Given the description of an element on the screen output the (x, y) to click on. 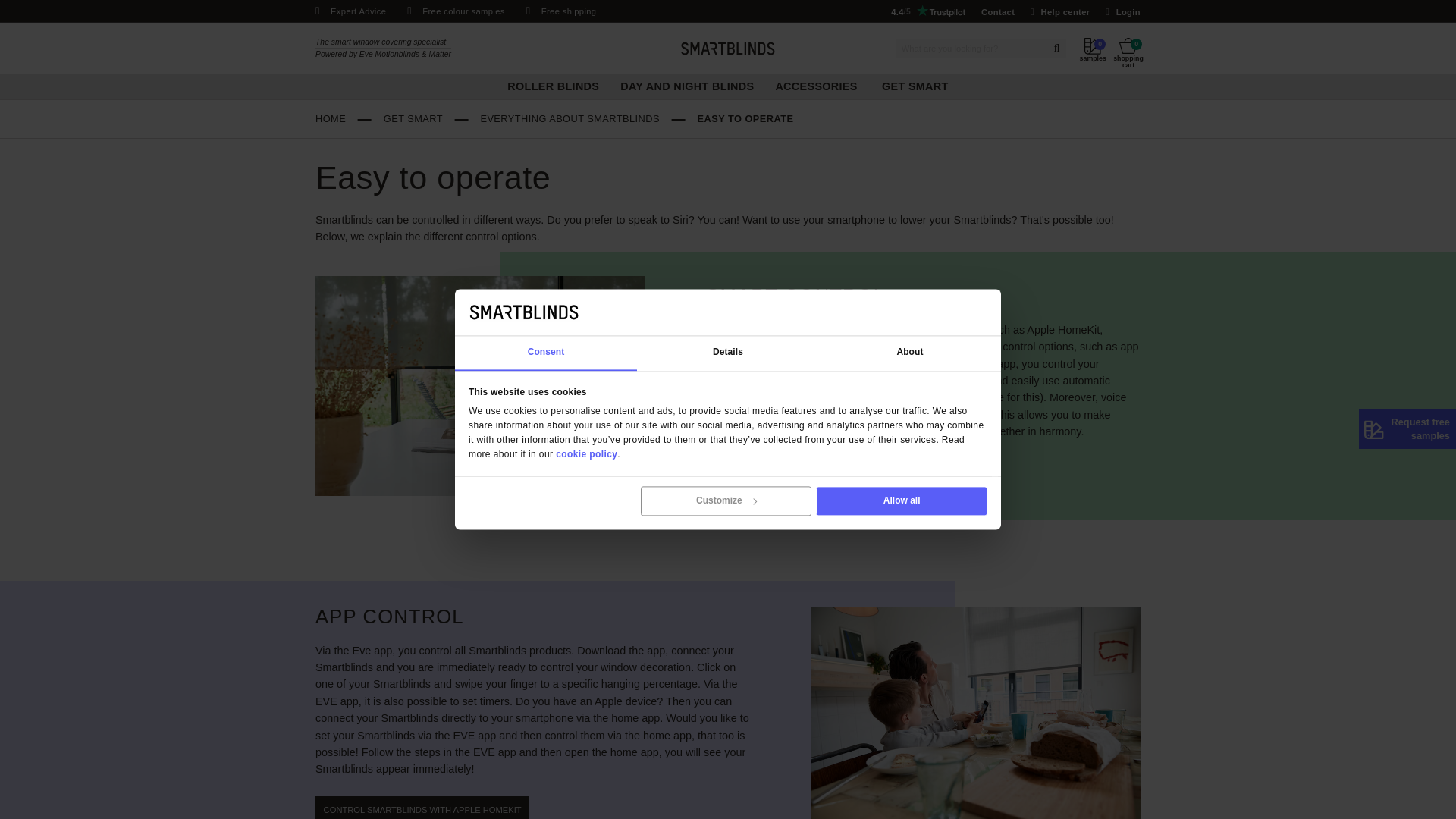
Sample basket (1365, 56)
cookie policy (732, 568)
About (1136, 441)
Details (909, 441)
Consent (682, 441)
